Given the description of an element on the screen output the (x, y) to click on. 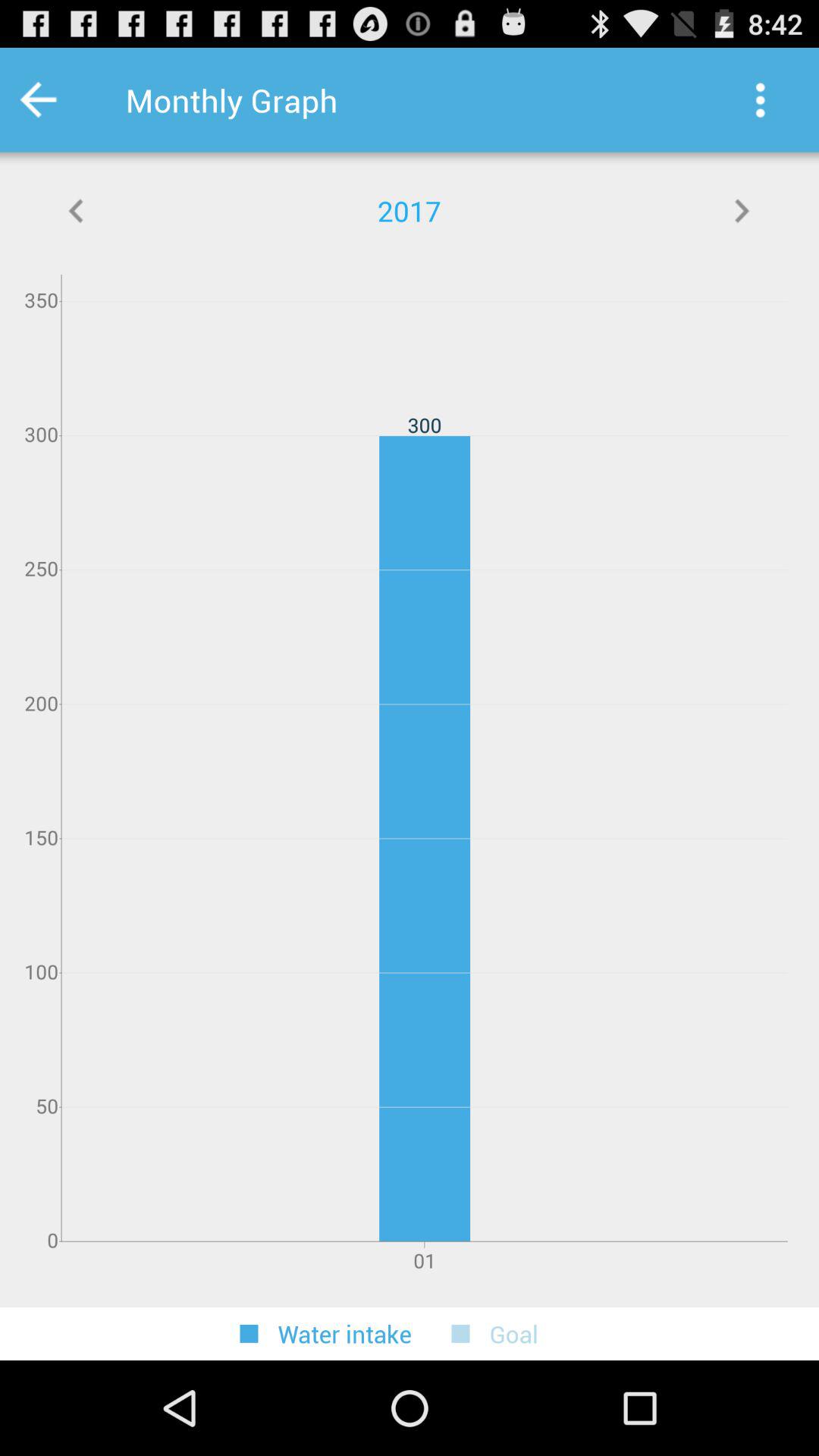
click the app below the monthly graph item (742, 210)
